Given the description of an element on the screen output the (x, y) to click on. 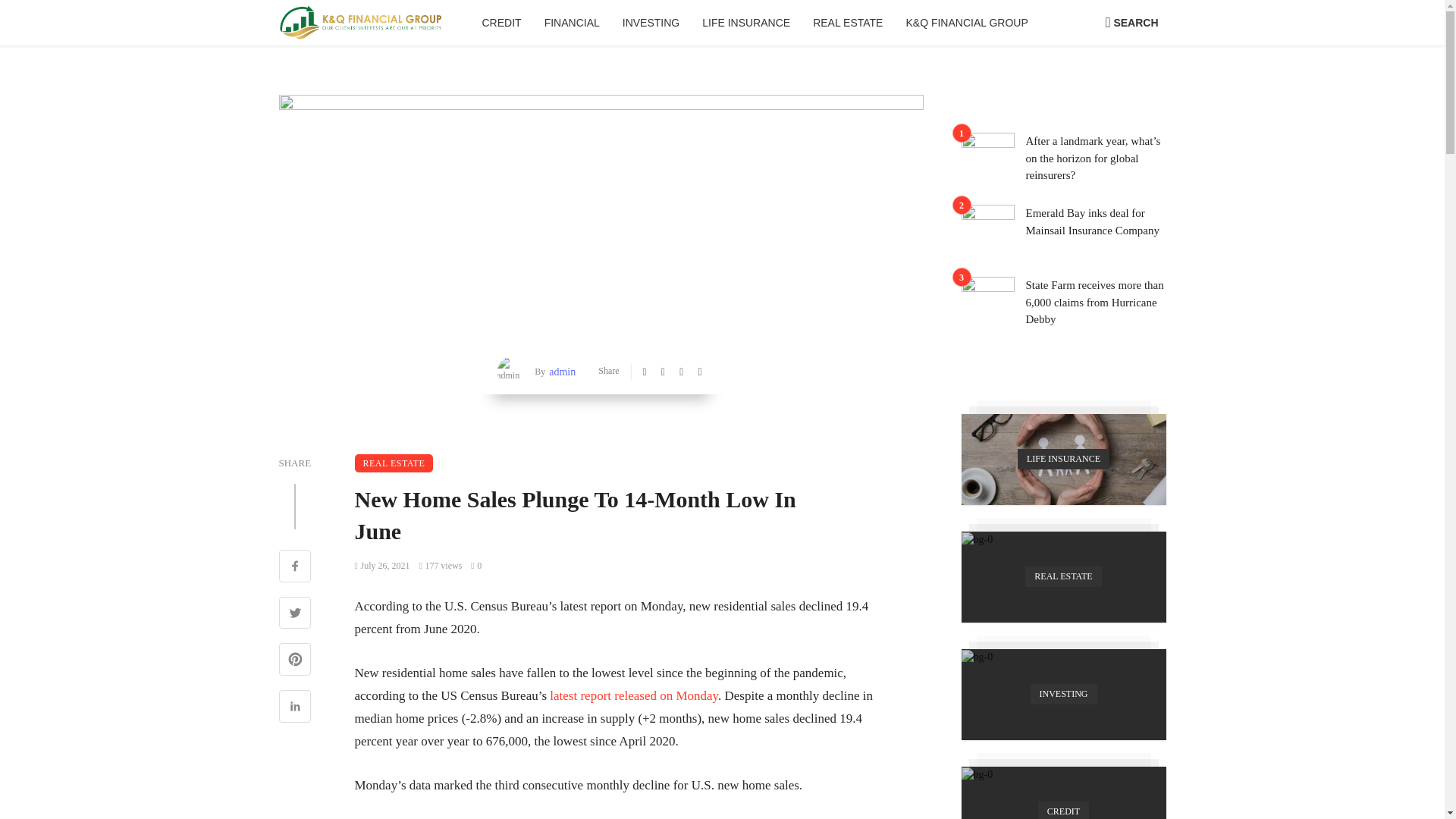
REAL ESTATE (847, 22)
Share on Facebook (295, 567)
Share on Linkedin (295, 708)
0 Comments (475, 565)
FINANCIAL (571, 22)
SEARCH (1131, 22)
Share on Twitter (295, 615)
Share on Pinterest (295, 660)
INVESTING (650, 22)
0 (475, 565)
